Given the description of an element on the screen output the (x, y) to click on. 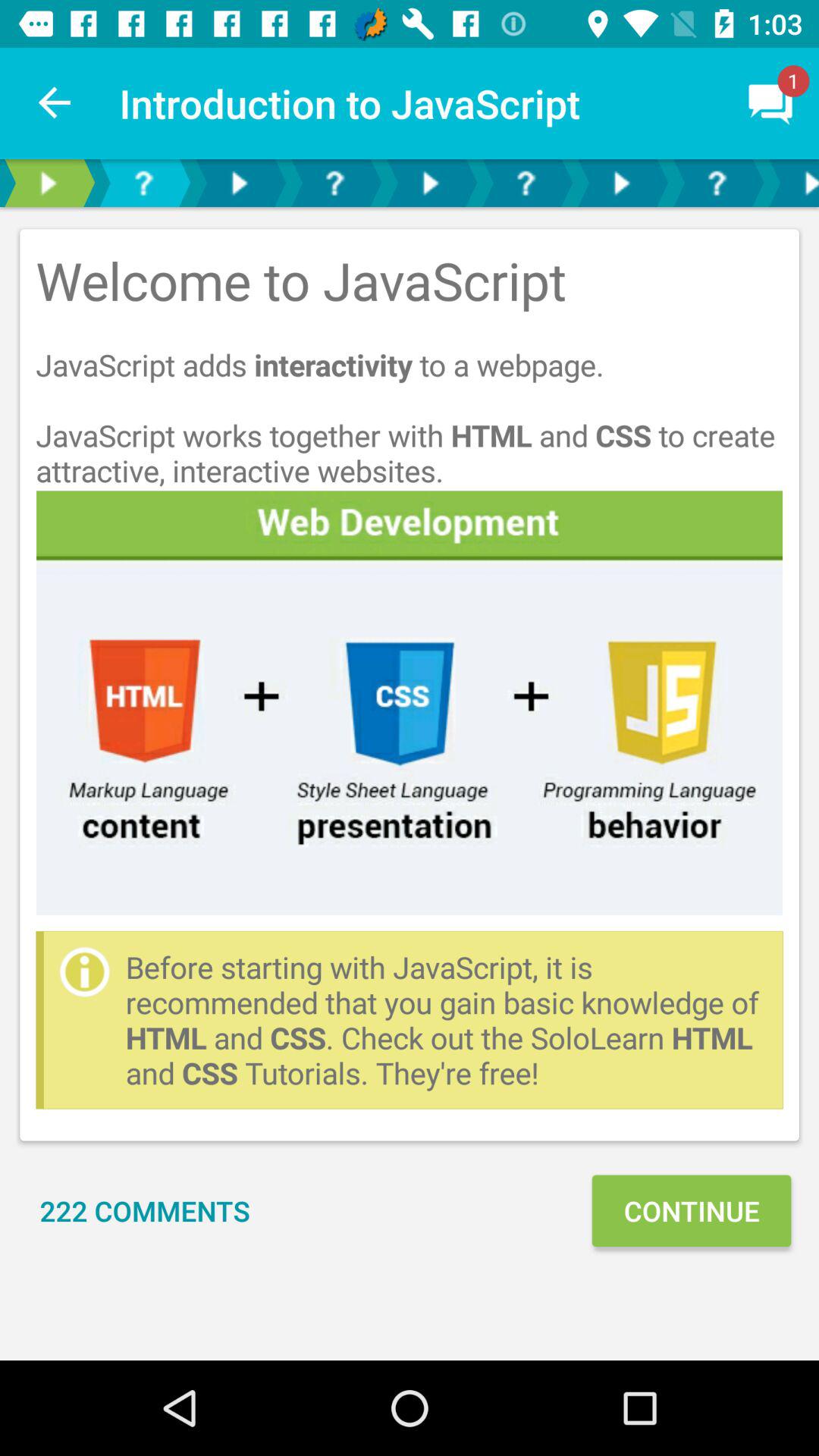
select the icon below the before starting with item (691, 1210)
